Given the description of an element on the screen output the (x, y) to click on. 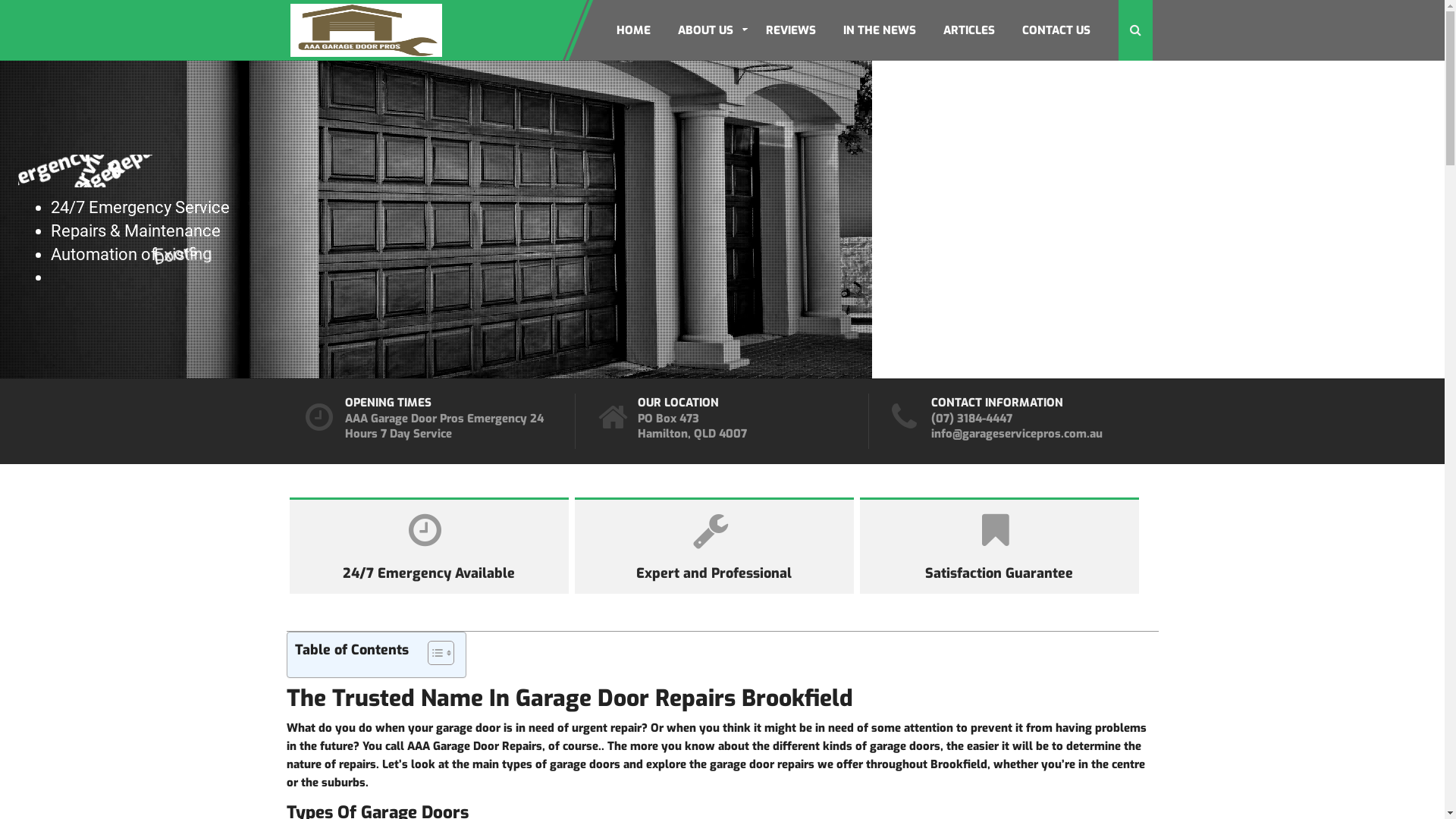
ARTICLES Element type: text (968, 30)
IN THE NEWS Element type: text (878, 30)
CONTACT US Element type: text (1055, 30)
ABOUT US Element type: text (704, 30)
HOME Element type: text (633, 30)
REVIEWS Element type: text (789, 30)
